Given the description of an element on the screen output the (x, y) to click on. 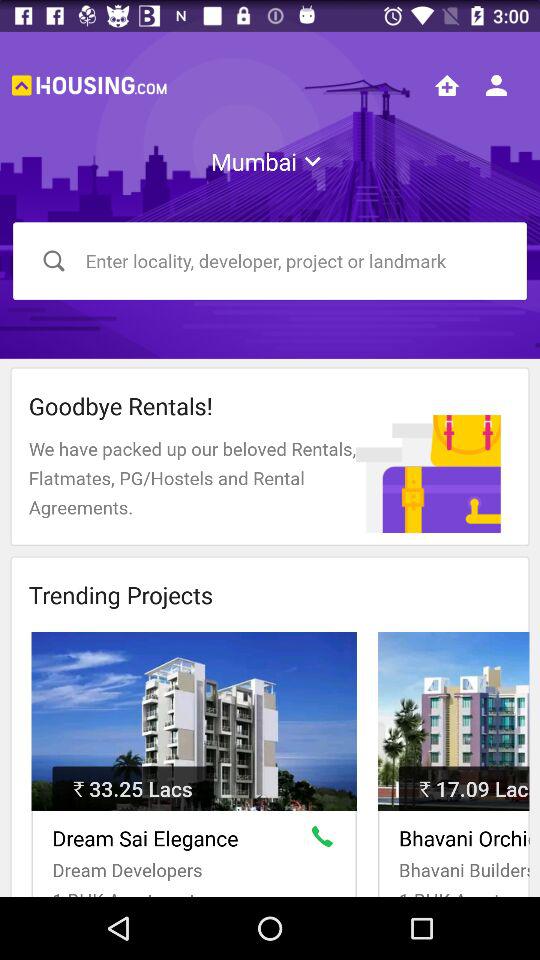
open item below mumbai icon (269, 260)
